Given the description of an element on the screen output the (x, y) to click on. 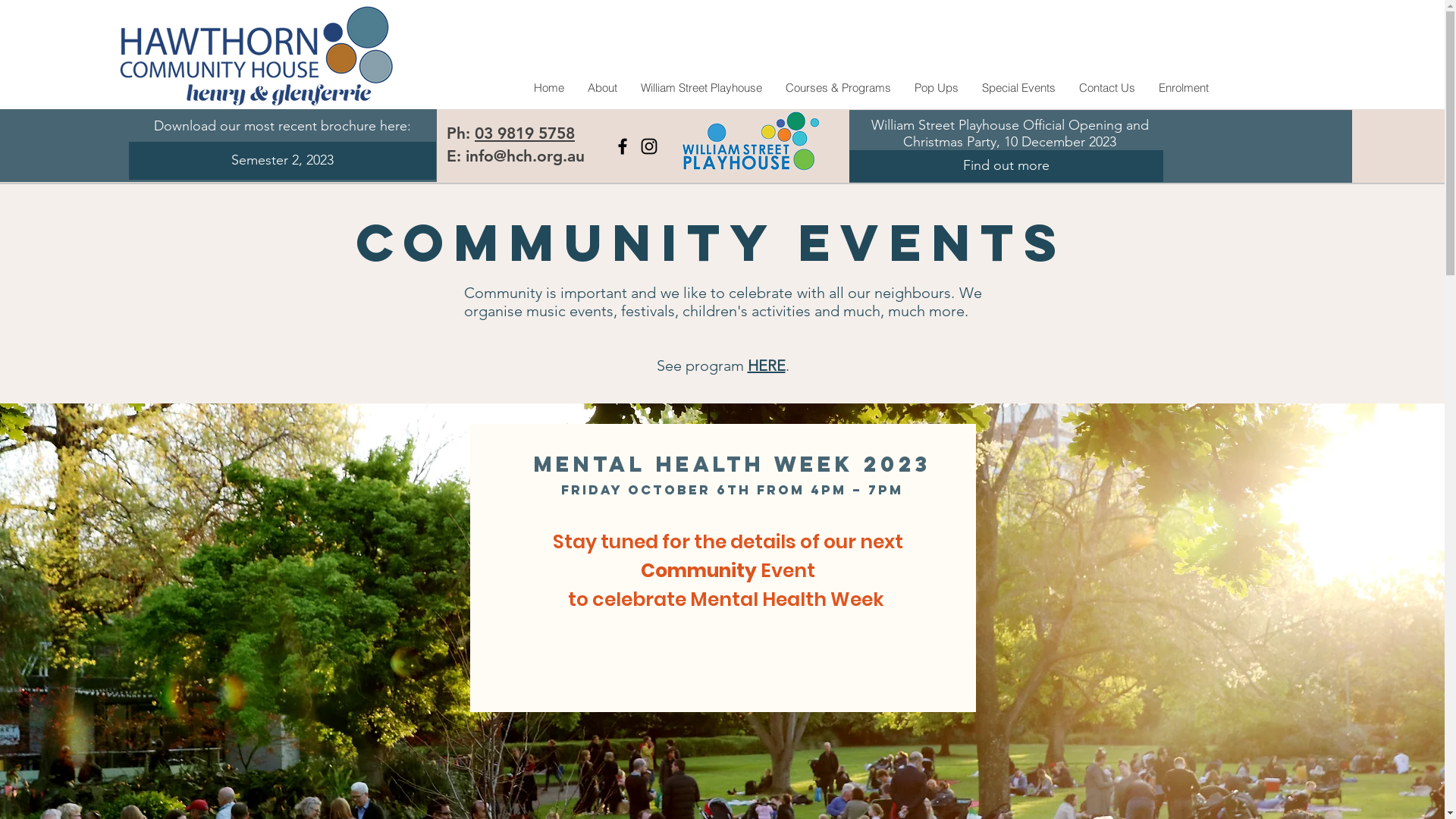
Pop Ups Element type: text (935, 87)
Special Events Element type: text (1017, 87)
Contact Us Element type: text (1105, 87)
HERE Element type: text (766, 365)
Courses & Programs Element type: text (837, 87)
About Element type: text (600, 87)
Home Element type: text (548, 87)
Semester 2, 2023 Element type: text (282, 160)
Enrolment Element type: text (1183, 87)
Ph: 03 9819 5758   
E: Element type: text (517, 144)
Find out more Element type: text (1006, 166)
William Street Playhouse Element type: text (699, 87)
info@hch.org.au Element type: text (524, 155)
